Given the description of an element on the screen output the (x, y) to click on. 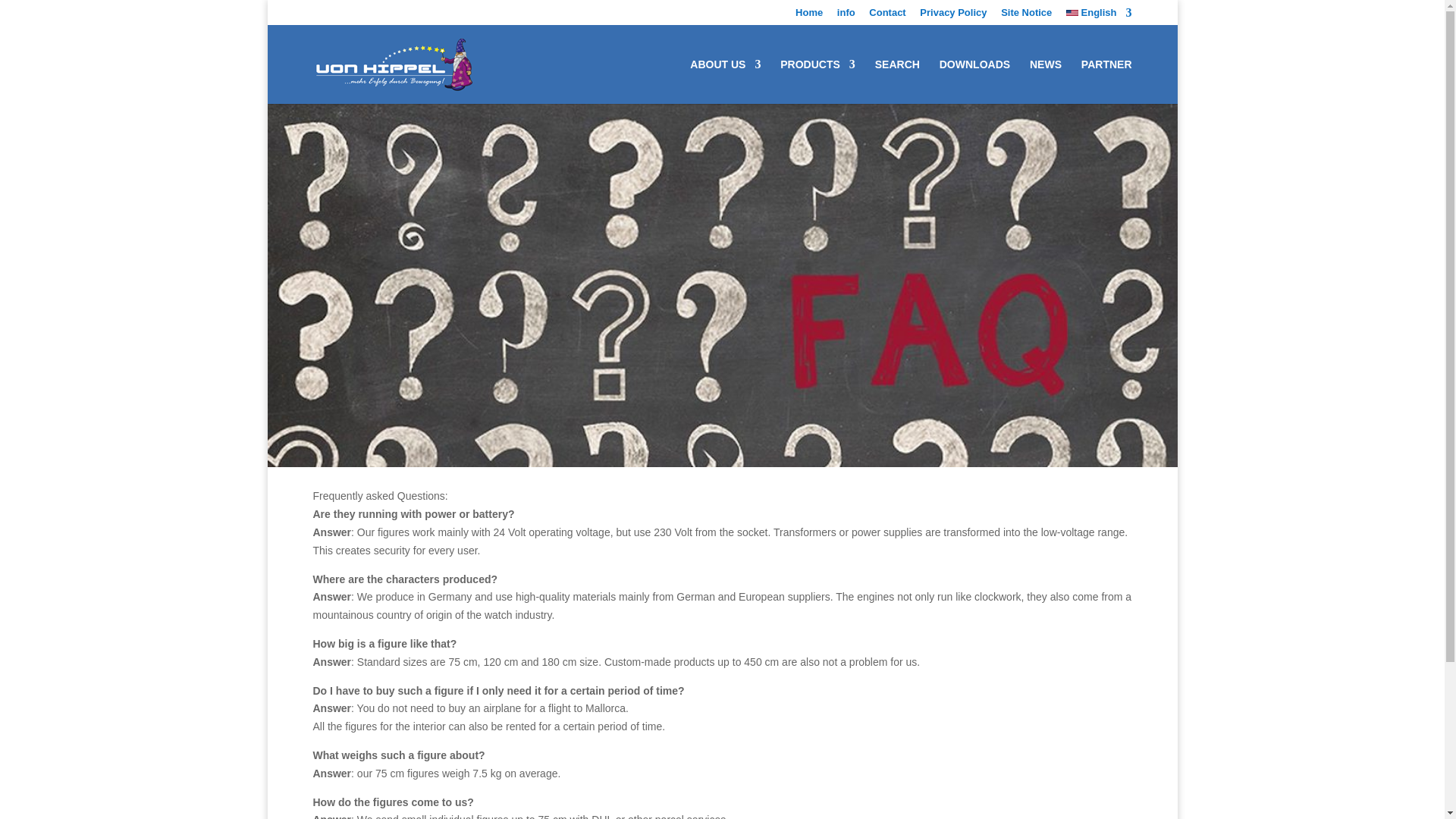
Site Notice (1026, 16)
 English (1098, 16)
PRODUCTS (818, 81)
Privacy Policy (953, 16)
info (846, 16)
PARTNER (1106, 81)
Contact (887, 16)
SEARCH (897, 81)
Home (808, 16)
ABOUT US (725, 81)
DOWNLOADS (974, 81)
